Given the description of an element on the screen output the (x, y) to click on. 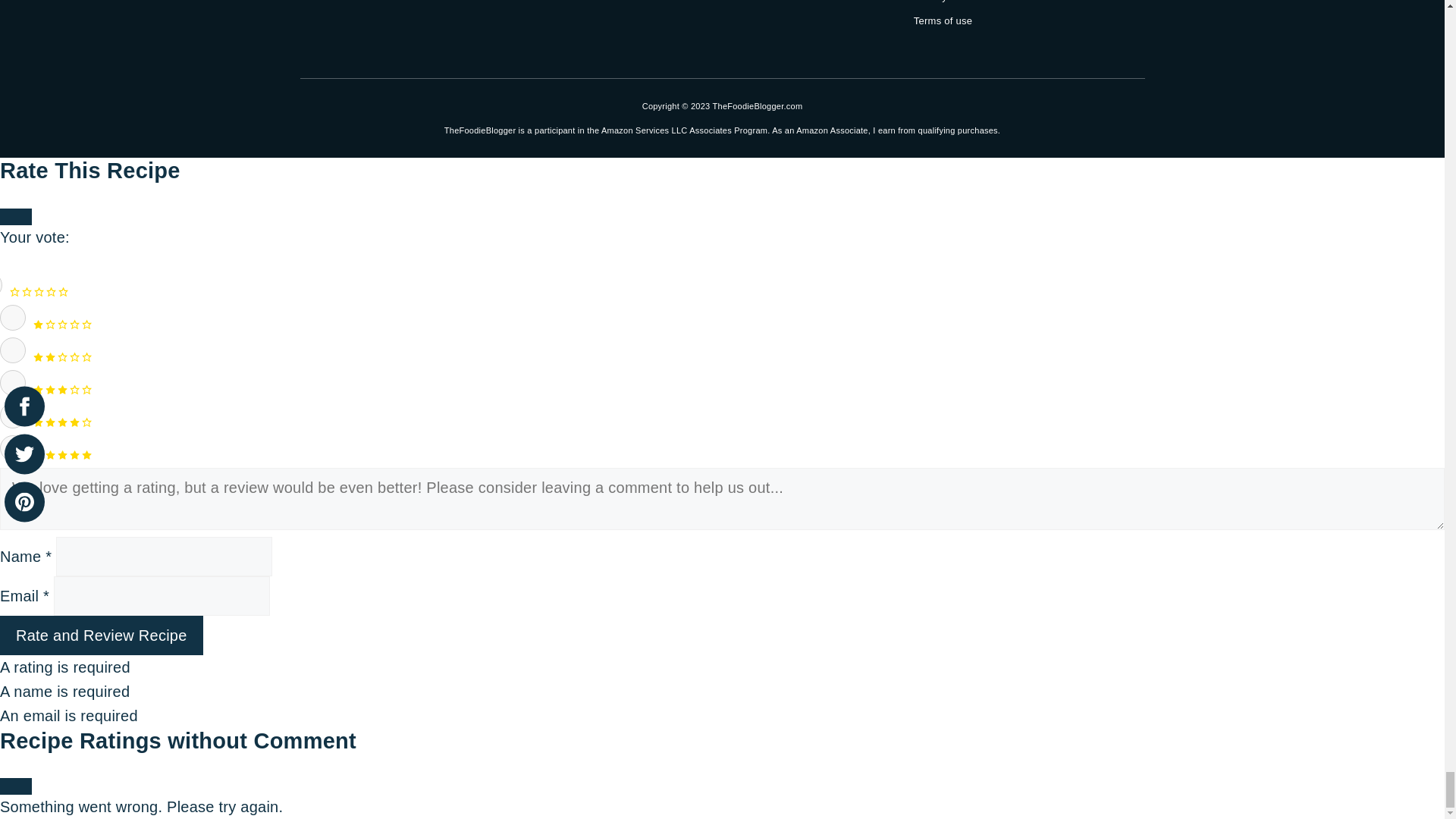
3 (13, 382)
1 (13, 317)
2 (13, 350)
5 (13, 447)
4 (13, 415)
